Given the description of an element on the screen output the (x, y) to click on. 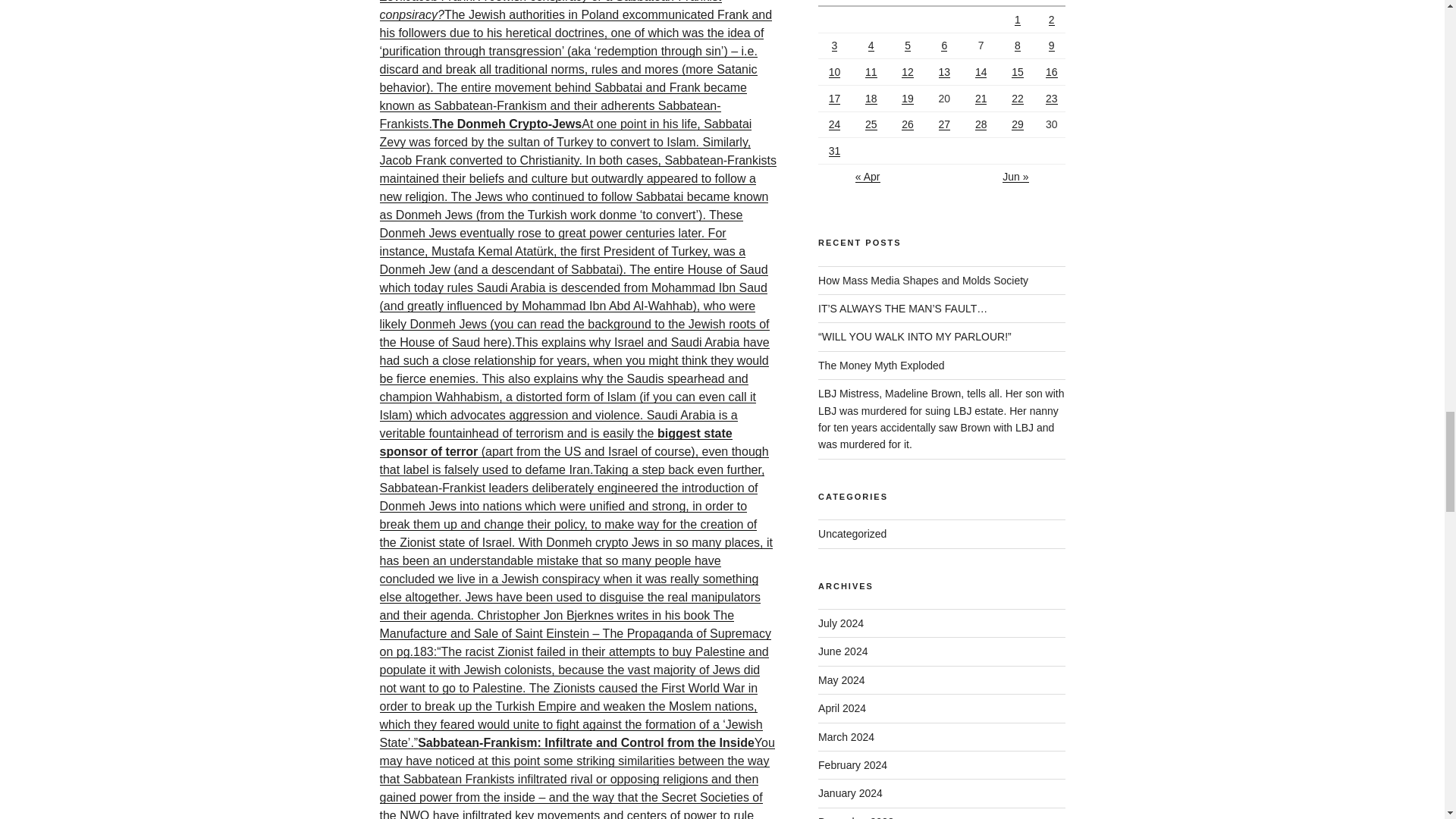
Friday (982, 2)
Tuesday (872, 2)
Wednesday (909, 2)
Monday (836, 2)
Sunday (1051, 2)
Thursday (945, 2)
Saturday (1019, 2)
